Given the description of an element on the screen output the (x, y) to click on. 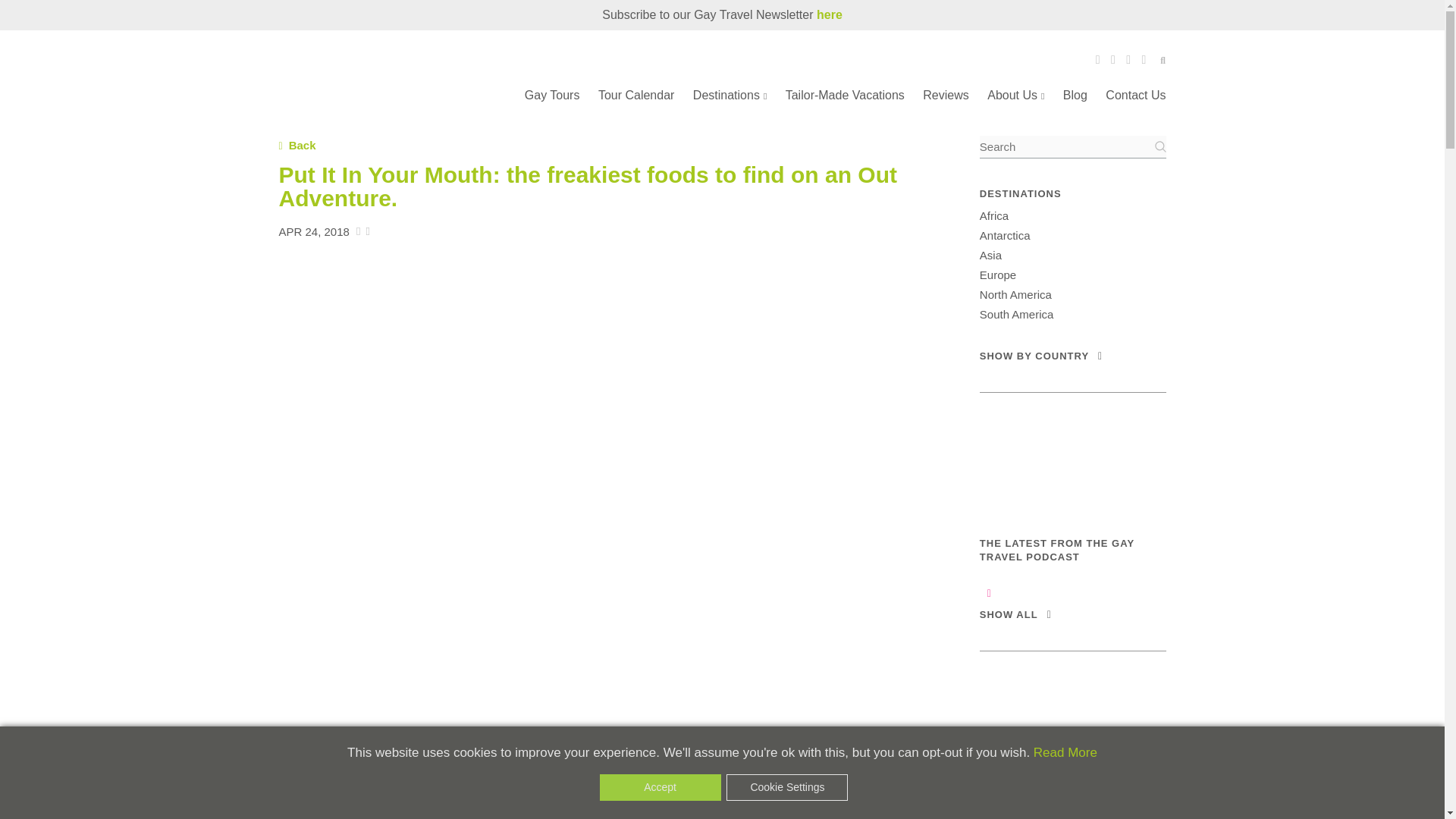
Contact Us (1135, 94)
here (829, 14)
Reviews (945, 94)
Tailor-Made Vacations (845, 94)
Gay Tours (551, 94)
About Us (1015, 94)
Tour Calendar (636, 94)
Destinations (730, 94)
Blog (1074, 94)
